Given the description of an element on the screen output the (x, y) to click on. 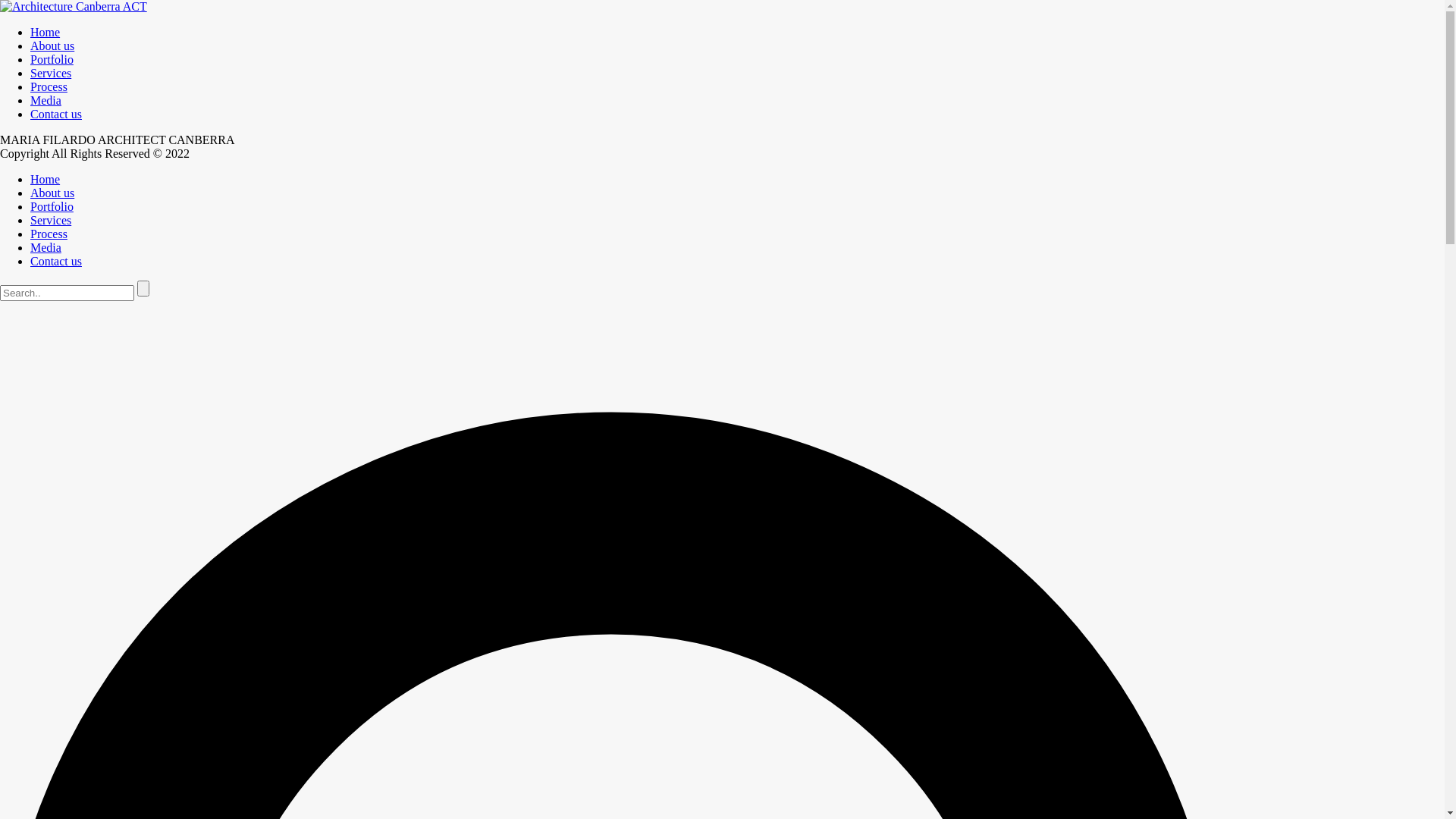
Contact us Element type: text (55, 260)
Media Element type: text (45, 247)
Process Element type: text (48, 86)
Portfolio Element type: text (51, 59)
Services Element type: text (50, 219)
Architecture Canberra ACT Element type: hover (73, 6)
Process Element type: text (48, 233)
Maria Filardo Architect Canberra Element type: hover (73, 6)
Contact us Element type: text (55, 113)
About us Element type: text (52, 45)
About us Element type: text (52, 192)
Media Element type: text (45, 100)
Services Element type: text (50, 72)
Home Element type: text (44, 31)
Home Element type: text (44, 178)
Portfolio Element type: text (51, 206)
